Given the description of an element on the screen output the (x, y) to click on. 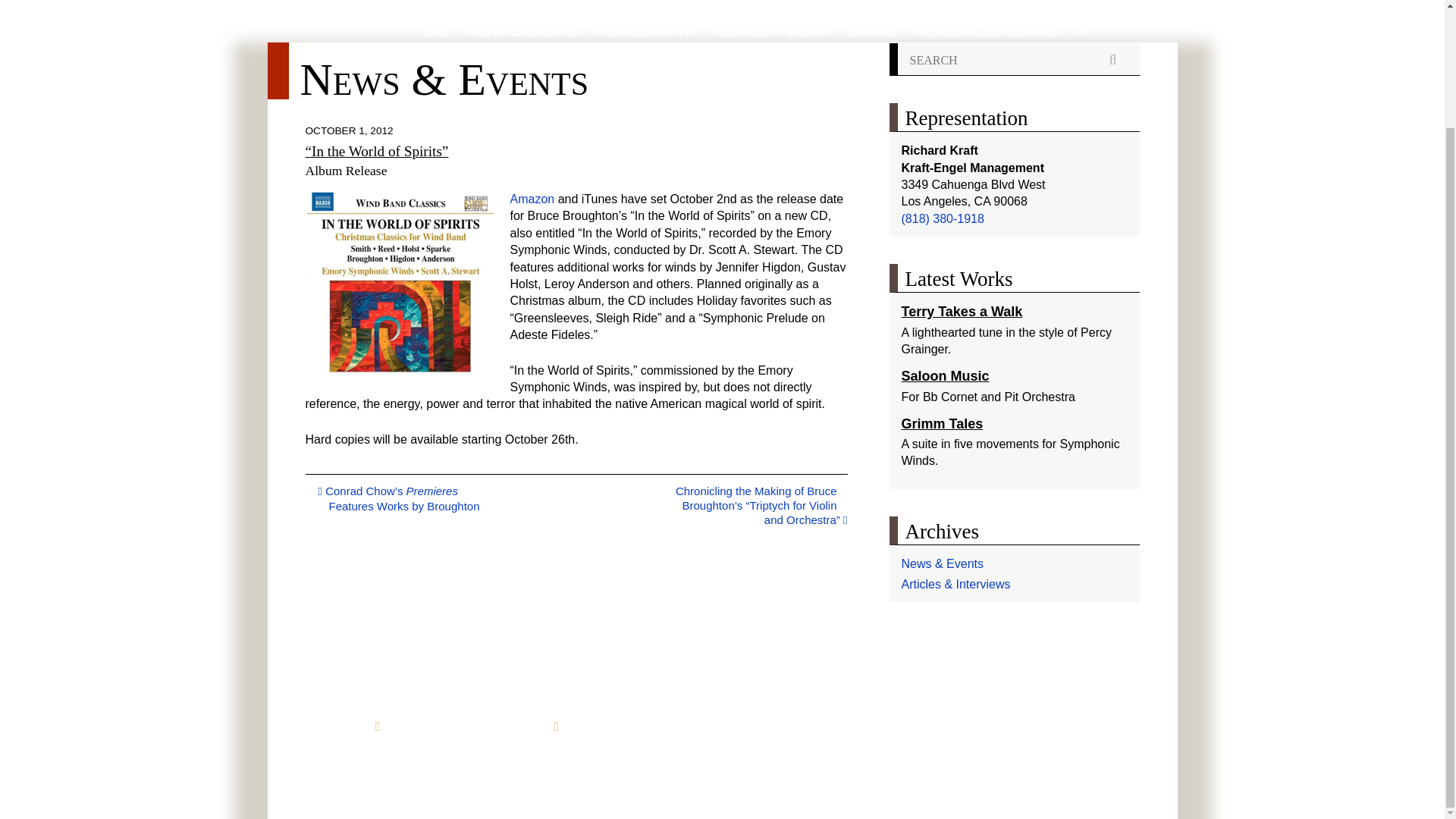
BIO (436, 31)
Grimm Tales (941, 423)
Saloon Music (944, 376)
FILMOGRAPHY (647, 31)
STORE (871, 31)
Privacy Statement (501, 764)
SHOP BRUBEL MUSIC (448, 726)
CONTACT (591, 726)
Amazon (531, 198)
Bruce Broughton (721, 20)
